Given the description of an element on the screen output the (x, y) to click on. 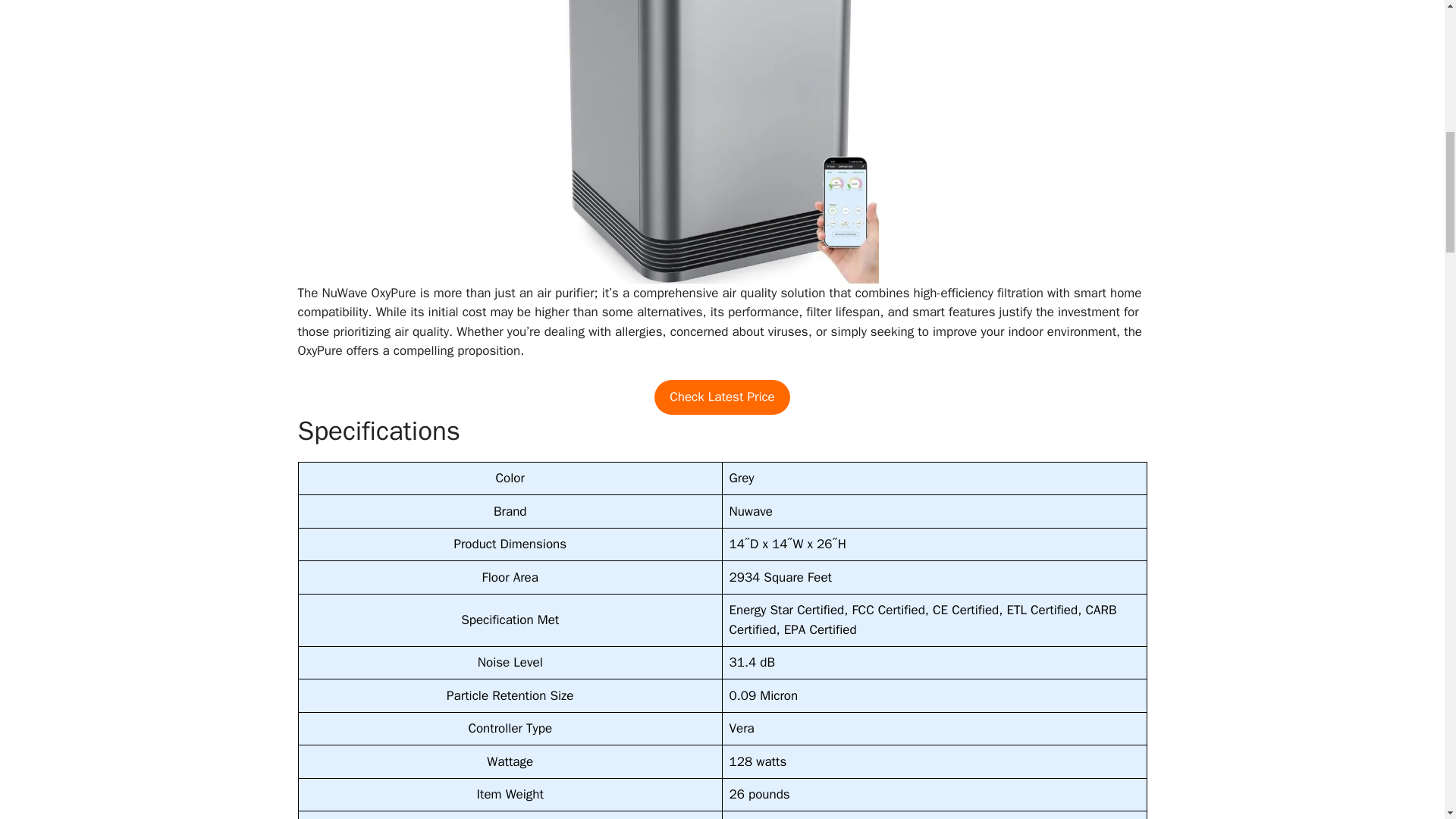
Check Latest Price (721, 397)
